Given the description of an element on the screen output the (x, y) to click on. 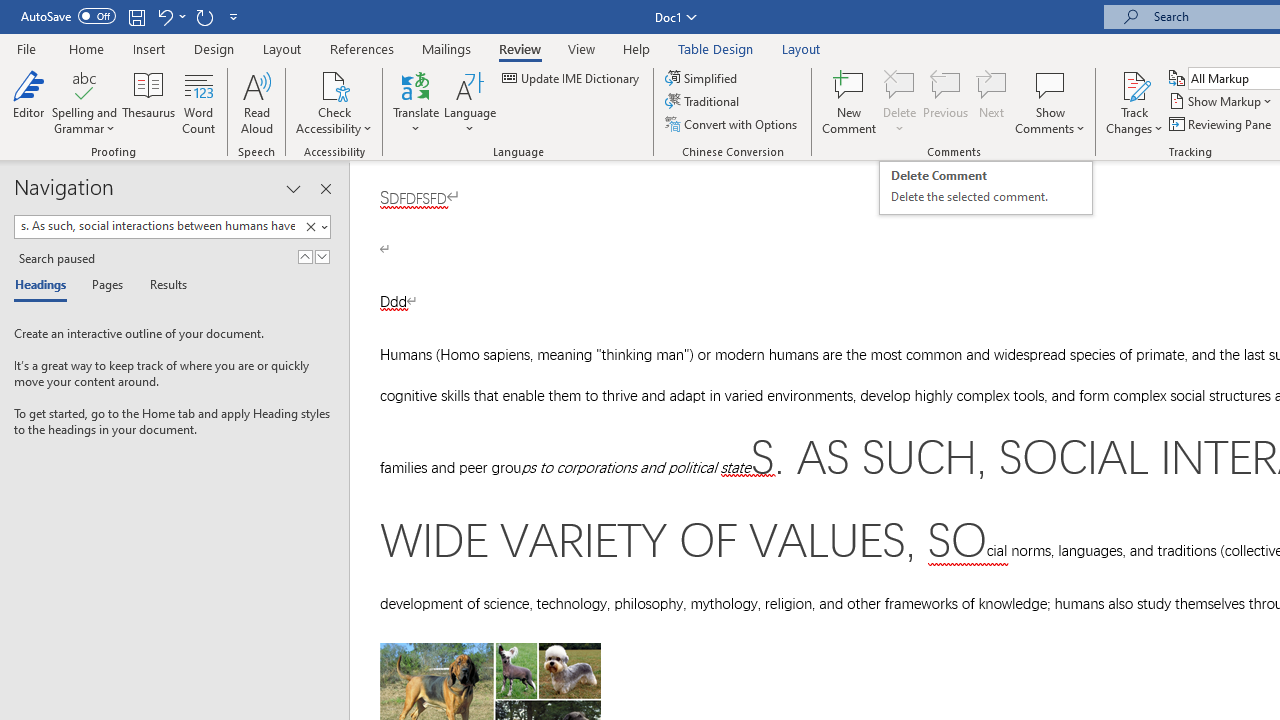
Next Result (322, 256)
Editor (28, 102)
Simplified (702, 78)
Delete (900, 102)
Task Pane Options (293, 188)
Traditional (703, 101)
Show Comments (1050, 84)
